Given the description of an element on the screen output the (x, y) to click on. 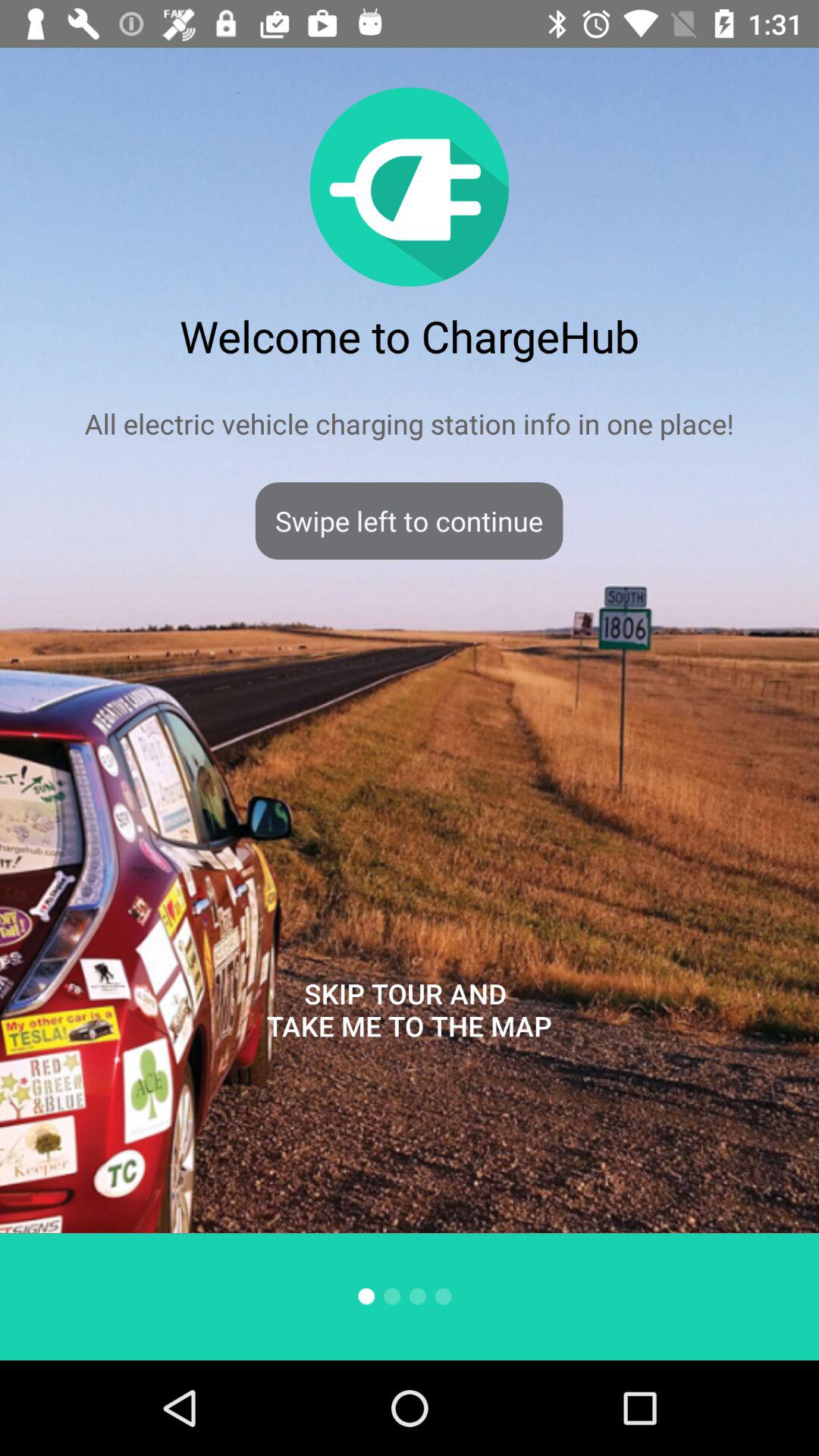
press item below the swipe left to (408, 1009)
